Given the description of an element on the screen output the (x, y) to click on. 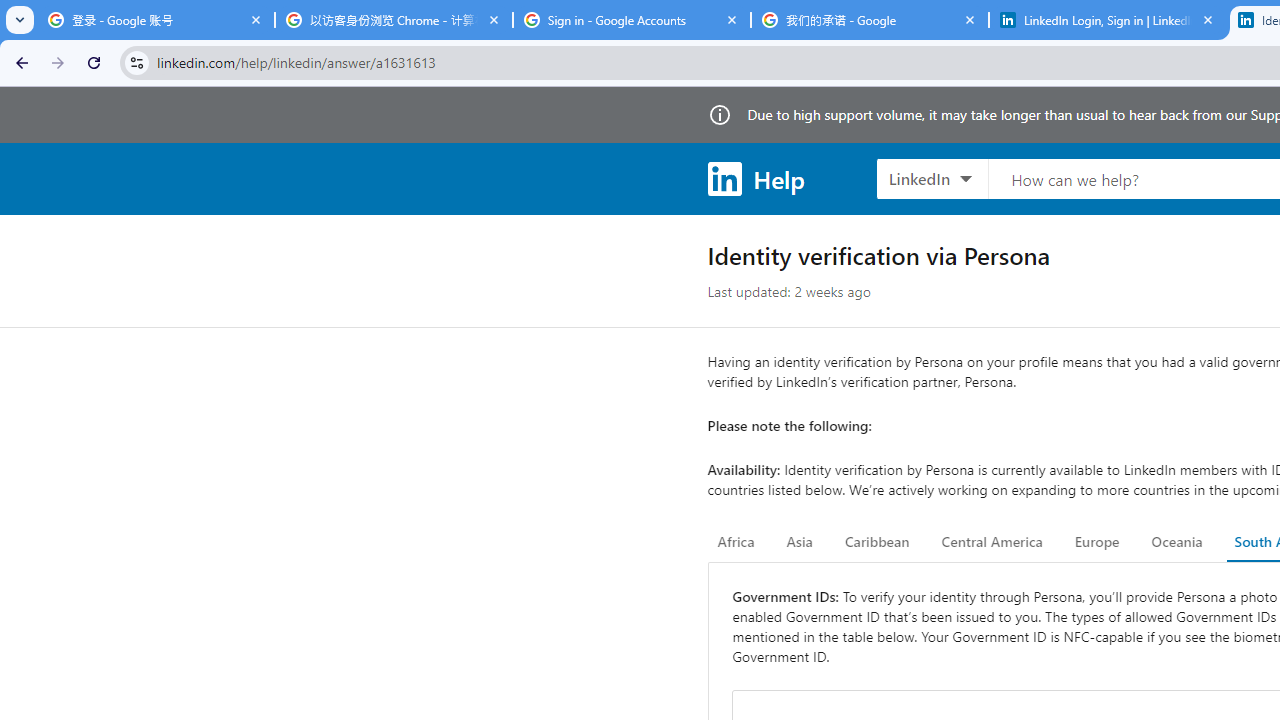
Europe (1096, 542)
Africa (735, 542)
LinkedIn Login, Sign in | LinkedIn (1108, 20)
LinkedIn products to search, LinkedIn selected (932, 178)
Sign in - Google Accounts (632, 20)
Asia (799, 542)
Oceania (1176, 542)
